Given the description of an element on the screen output the (x, y) to click on. 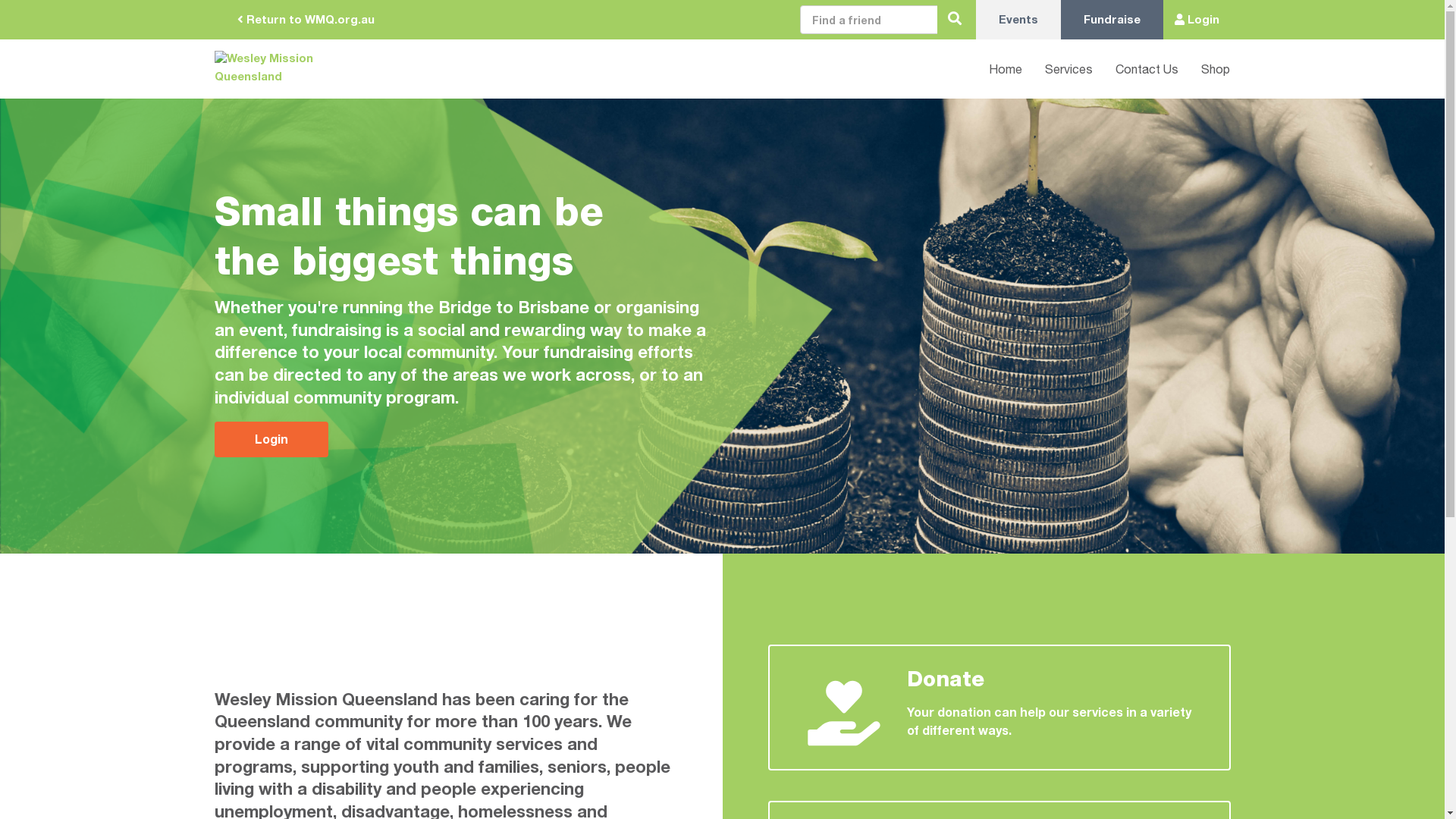
Events Element type: text (1017, 19)
Services Element type: text (1057, 68)
Fundraise Element type: text (1111, 19)
Login Element type: text (270, 439)
Contact Us Element type: text (1135, 68)
Shop Element type: text (1204, 68)
Return to WMQ.org.au Element type: text (304, 19)
Login Element type: text (1196, 19)
Home Element type: text (994, 68)
